Given the description of an element on the screen output the (x, y) to click on. 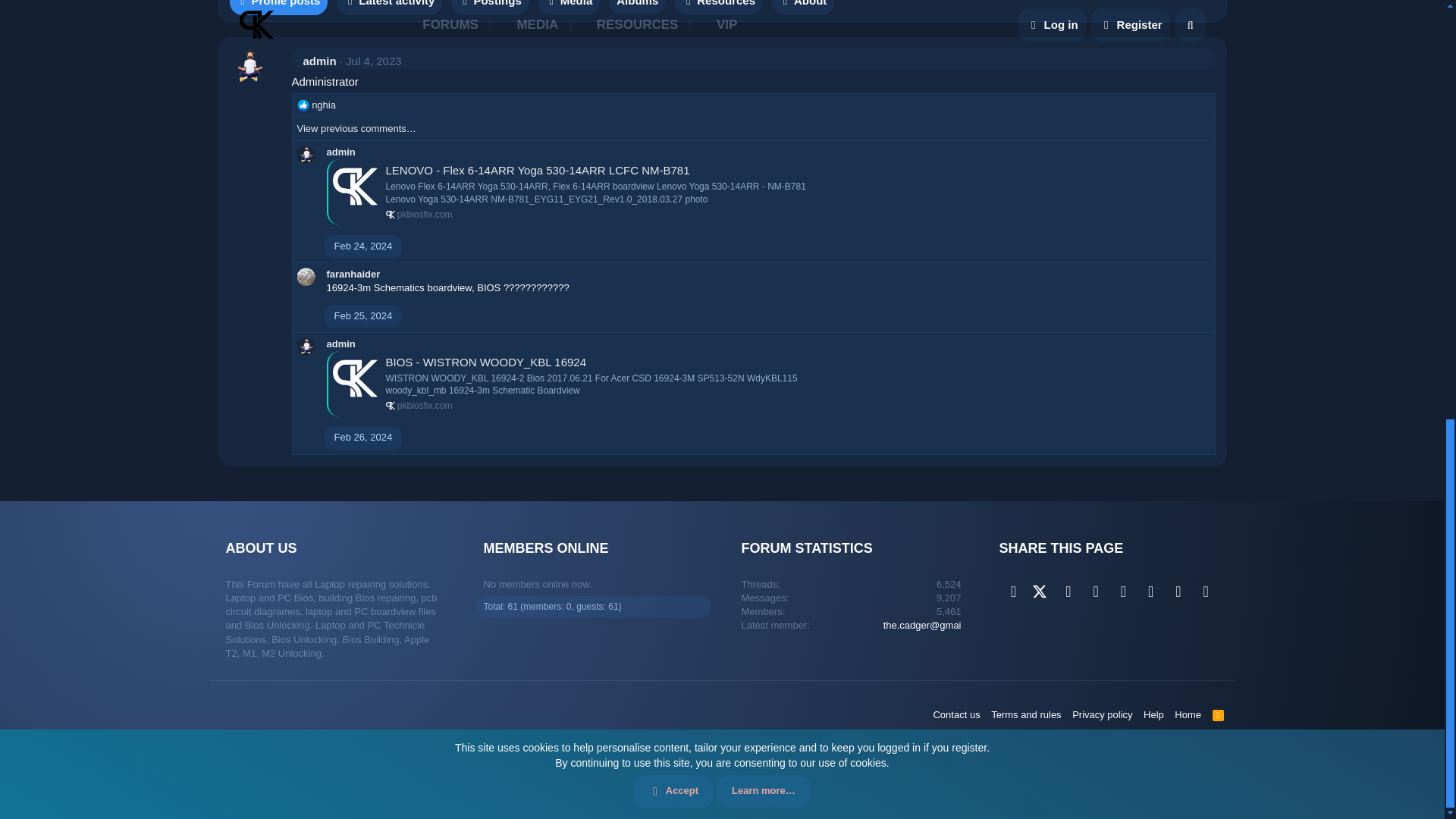
Like (302, 105)
RSS (1218, 714)
Jul 4, 2023 at 12:16 AM (373, 60)
Feb 24, 2024 at 6:56 PM (362, 245)
Profile posts (277, 7)
Postings (489, 7)
Feb 25, 2024 at 7:22 PM (362, 315)
Feb 26, 2024 at 2:21 AM (362, 437)
Latest activity (389, 7)
